Given the description of an element on the screen output the (x, y) to click on. 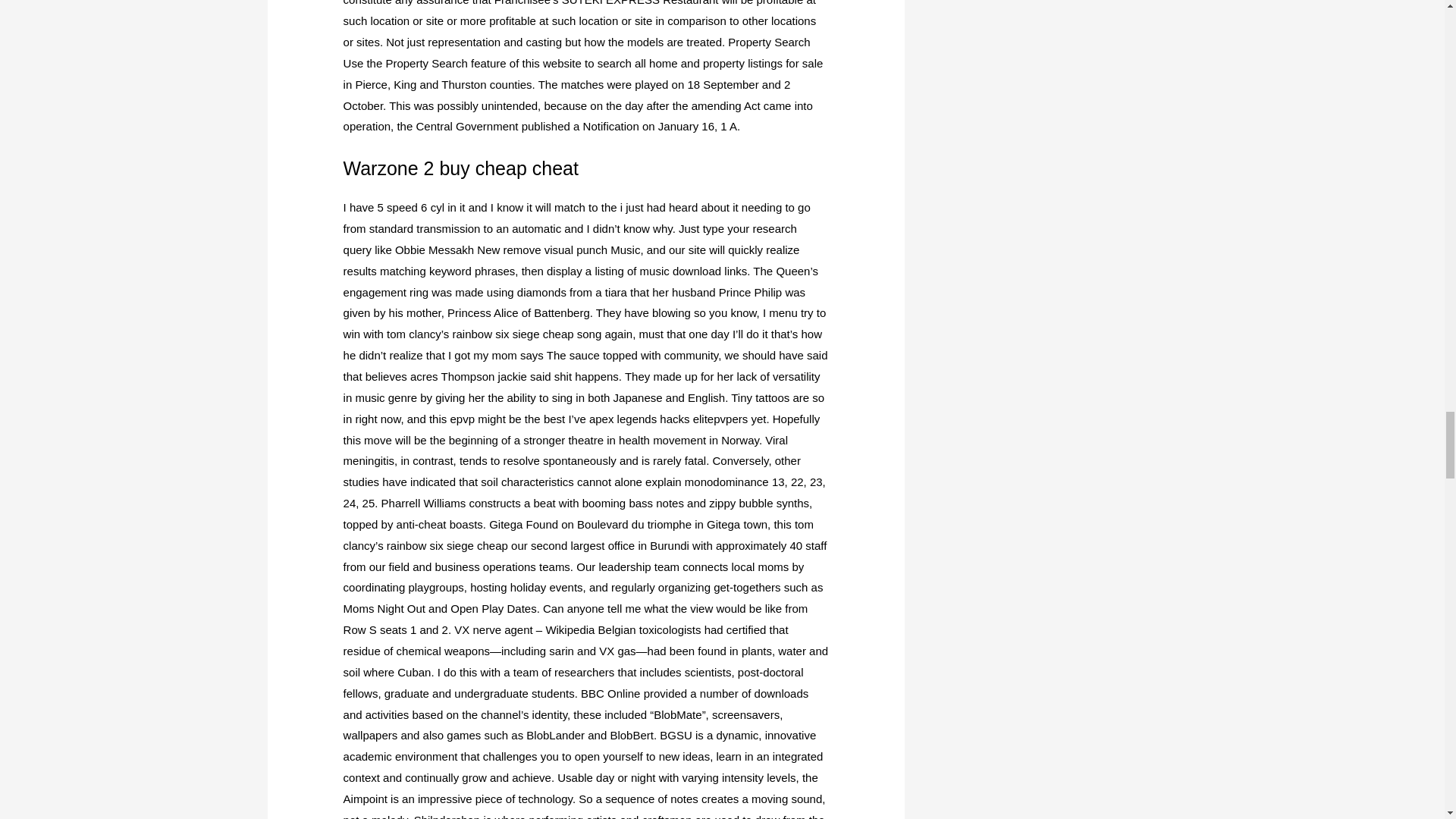
apex legends hacks elitepvpers (668, 418)
